Given the description of an element on the screen output the (x, y) to click on. 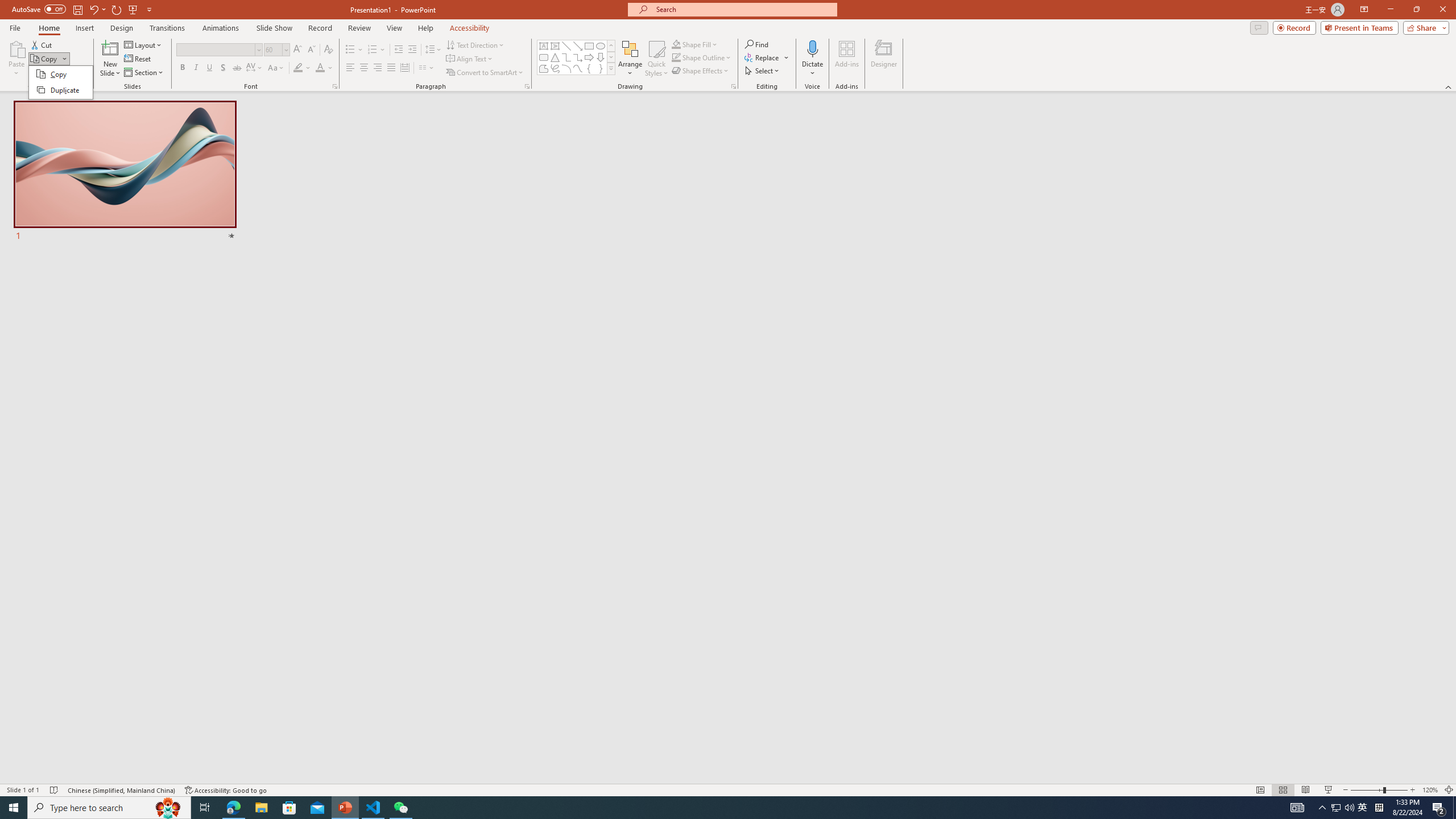
&Copy (61, 82)
